Given the description of an element on the screen output the (x, y) to click on. 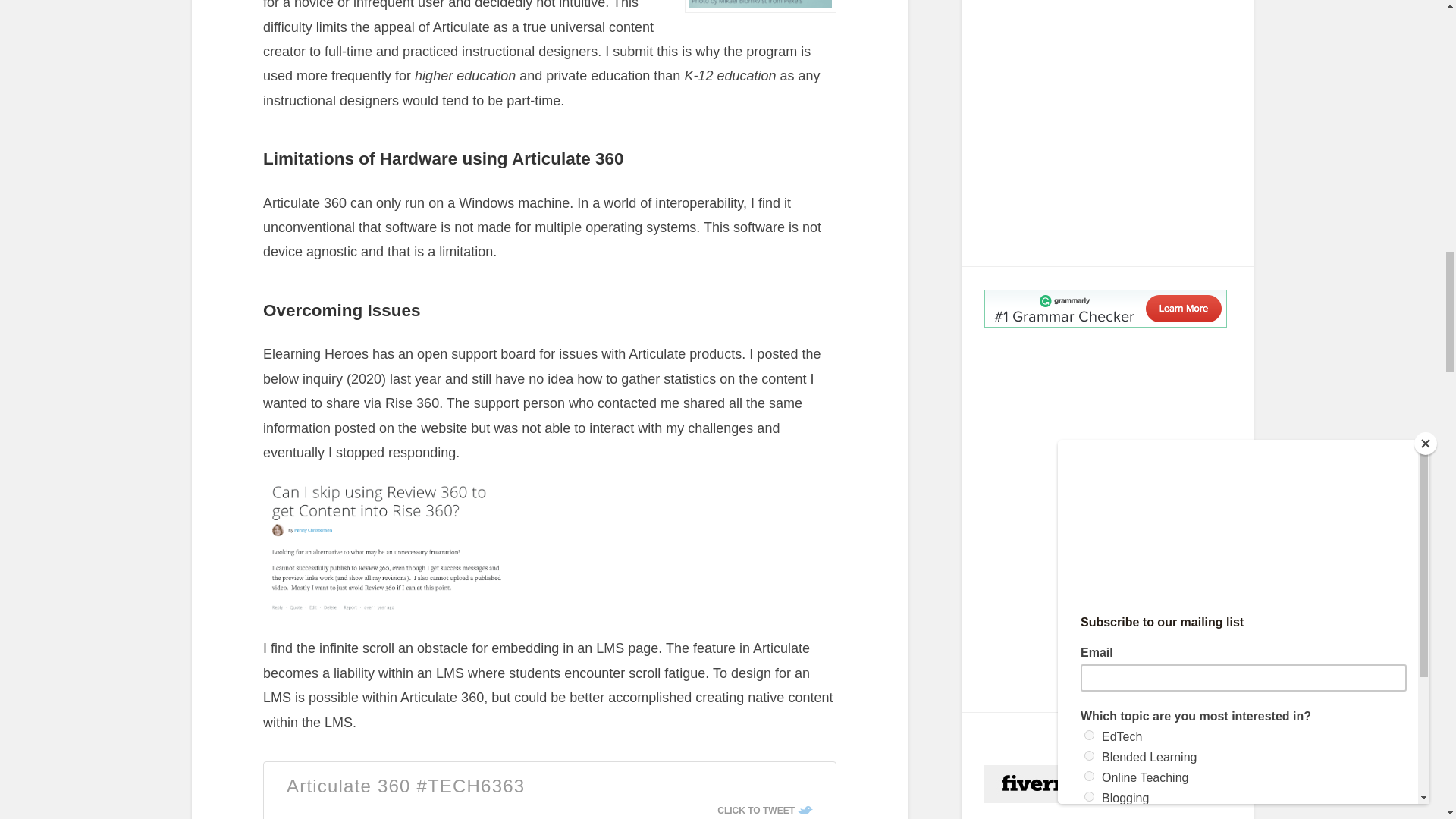
CLICK TO TWEET (764, 809)
